Given the description of an element on the screen output the (x, y) to click on. 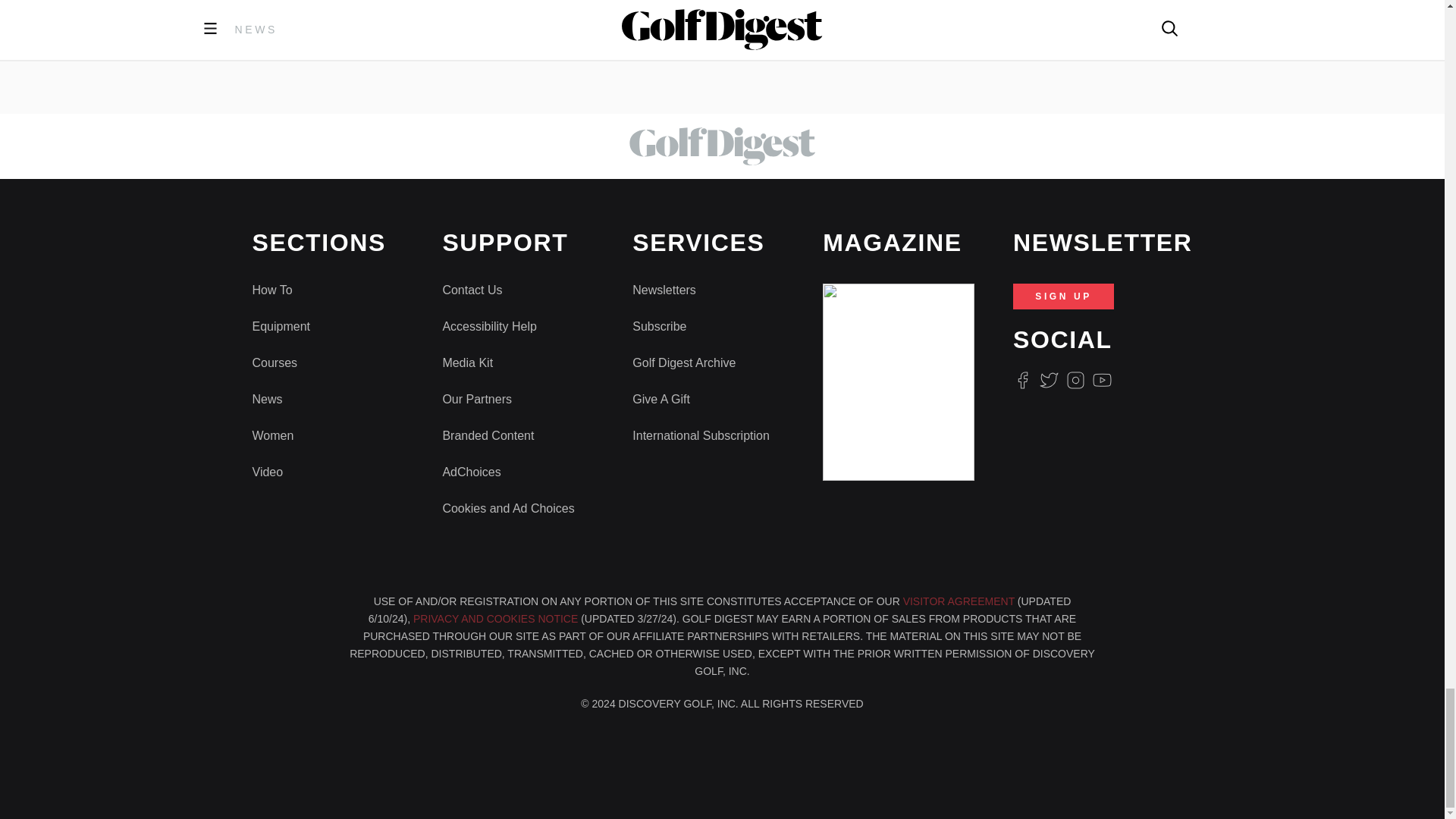
Twitter Logo (1048, 380)
Facebook Logo (1022, 380)
Instagram Logo (1074, 380)
Youtube Icon (1102, 380)
